Given the description of an element on the screen output the (x, y) to click on. 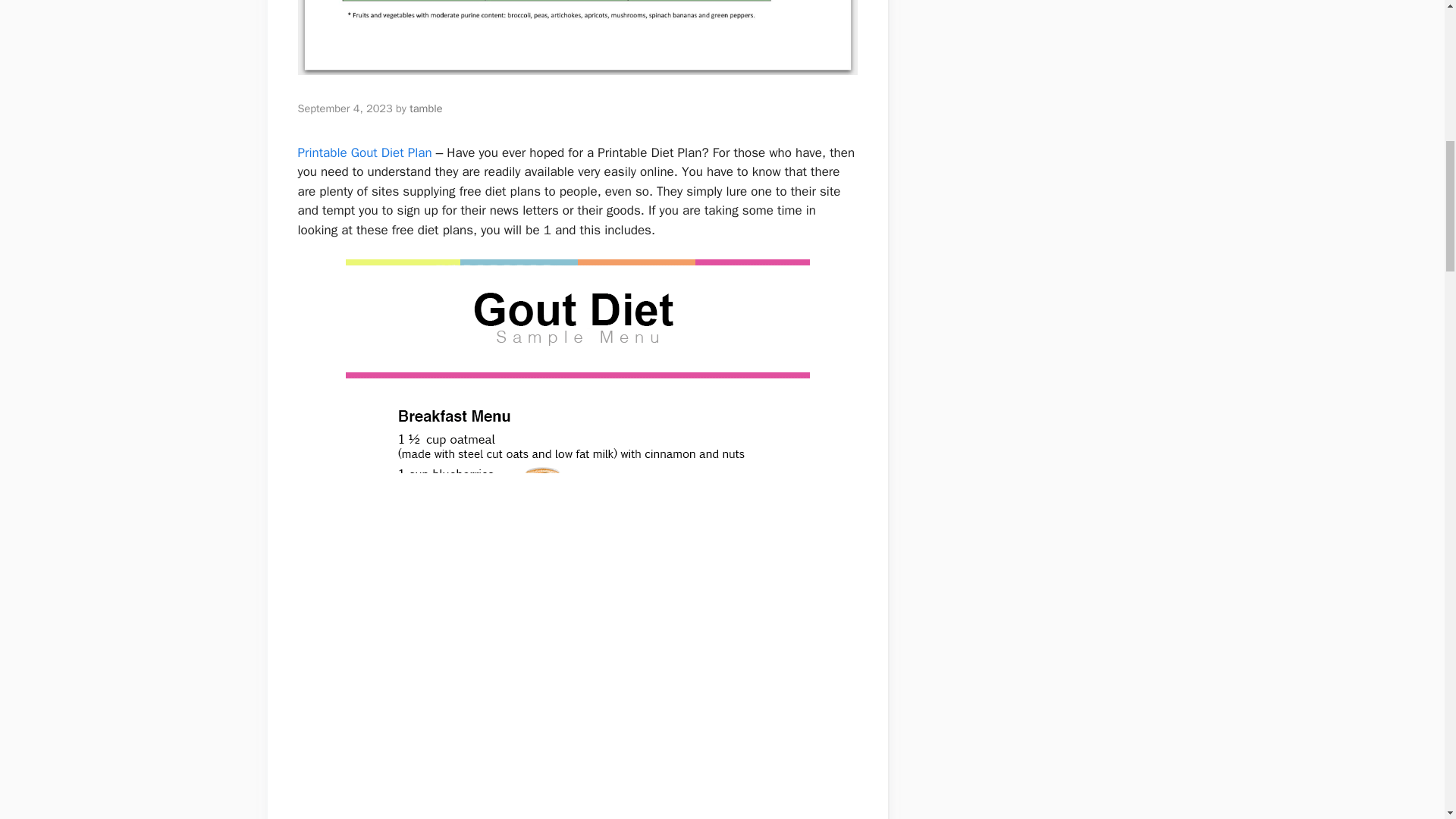
Printable Gout Diet Plan (363, 152)
tamble (425, 108)
View all posts by tamble (425, 108)
